Given the description of an element on the screen output the (x, y) to click on. 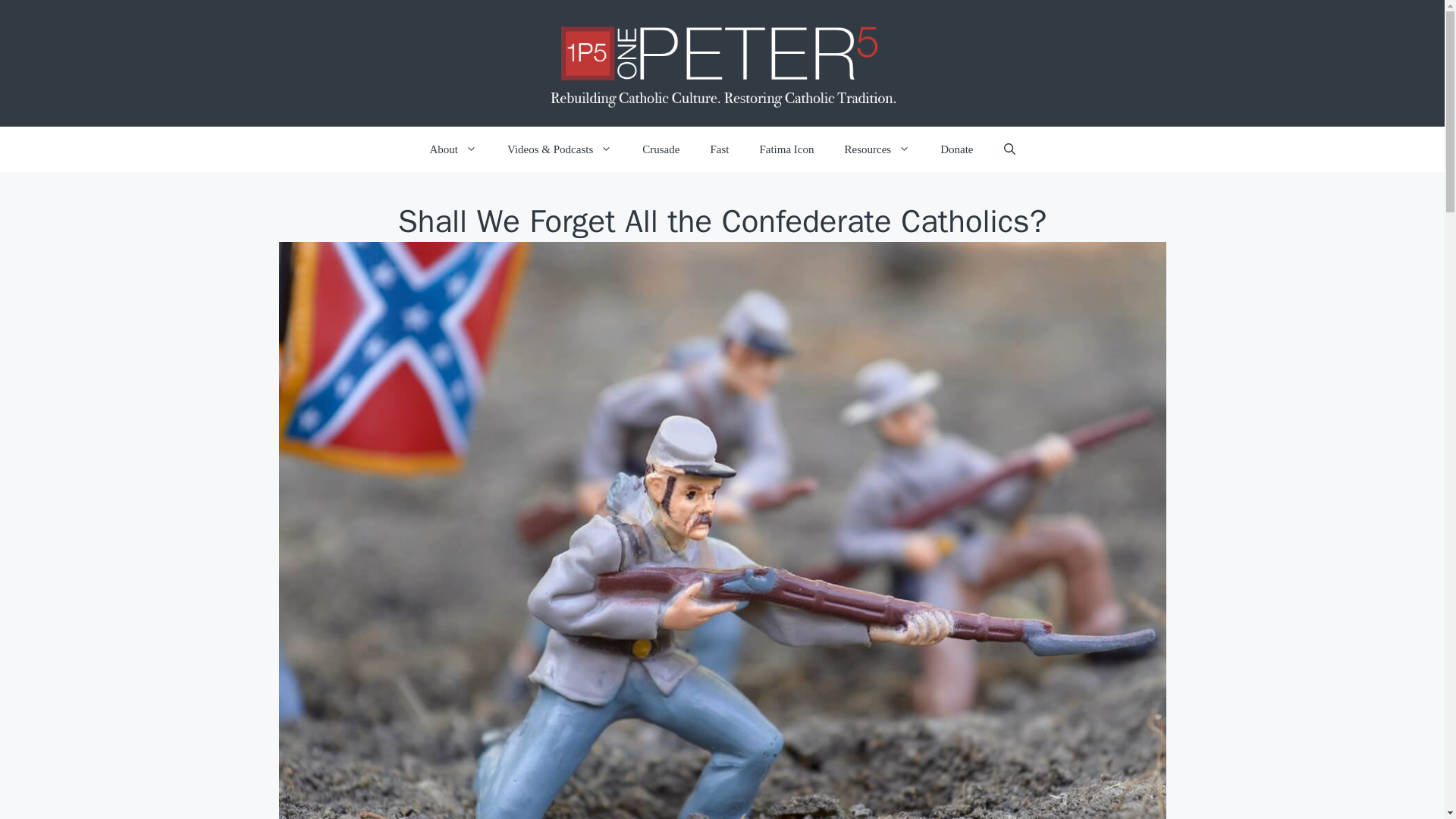
About (452, 148)
Posts by  Jerry Salyer (658, 267)
Posts by  Jerry Salyer (696, 267)
